Given the description of an element on the screen output the (x, y) to click on. 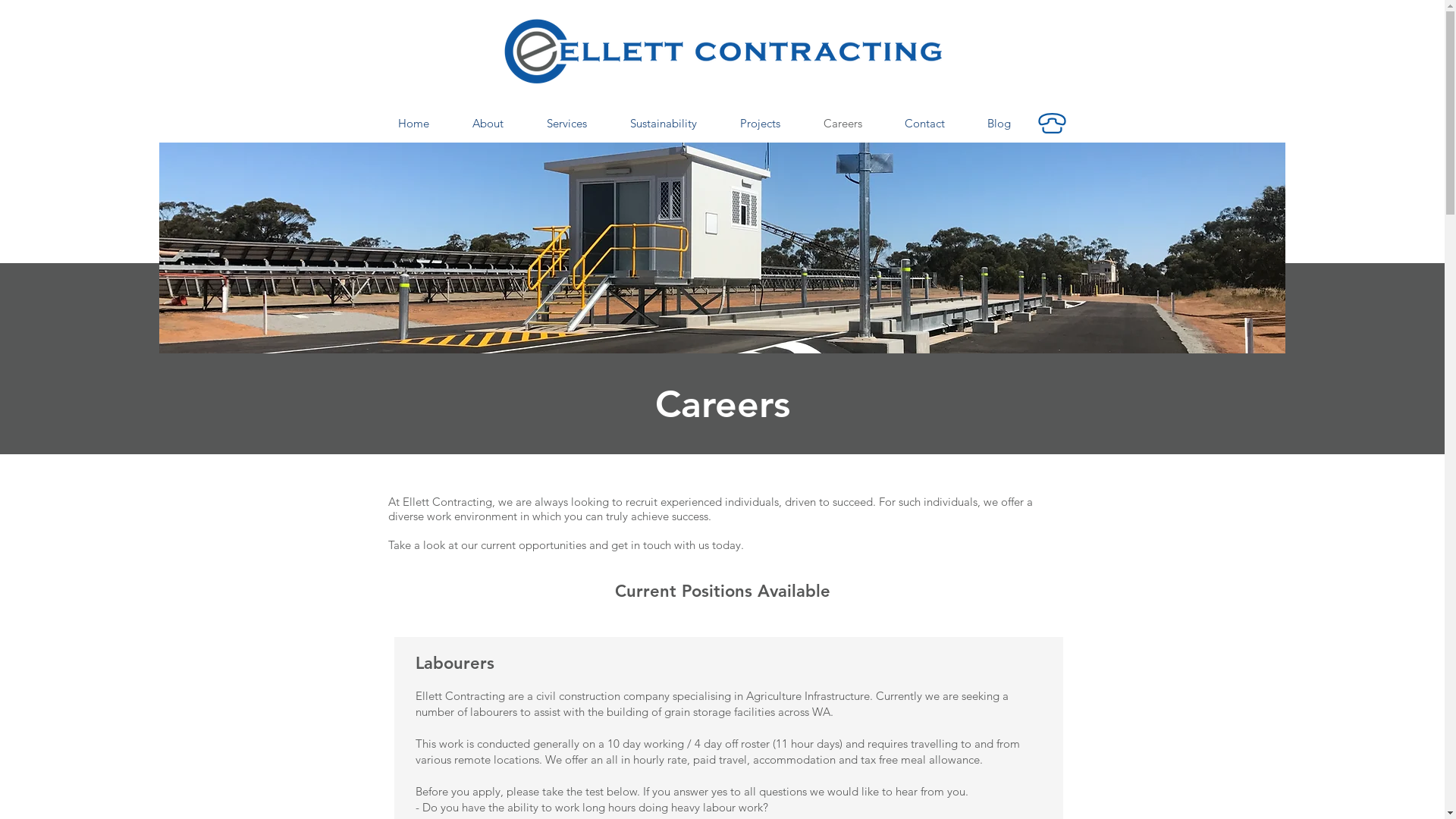
Blog Element type: text (999, 123)
Sustainability Element type: text (663, 123)
Careers Element type: text (842, 123)
Home Element type: text (413, 123)
Contact Element type: text (923, 123)
Projects Element type: text (760, 123)
About Element type: text (487, 123)
Services Element type: text (566, 123)
